Given the description of an element on the screen output the (x, y) to click on. 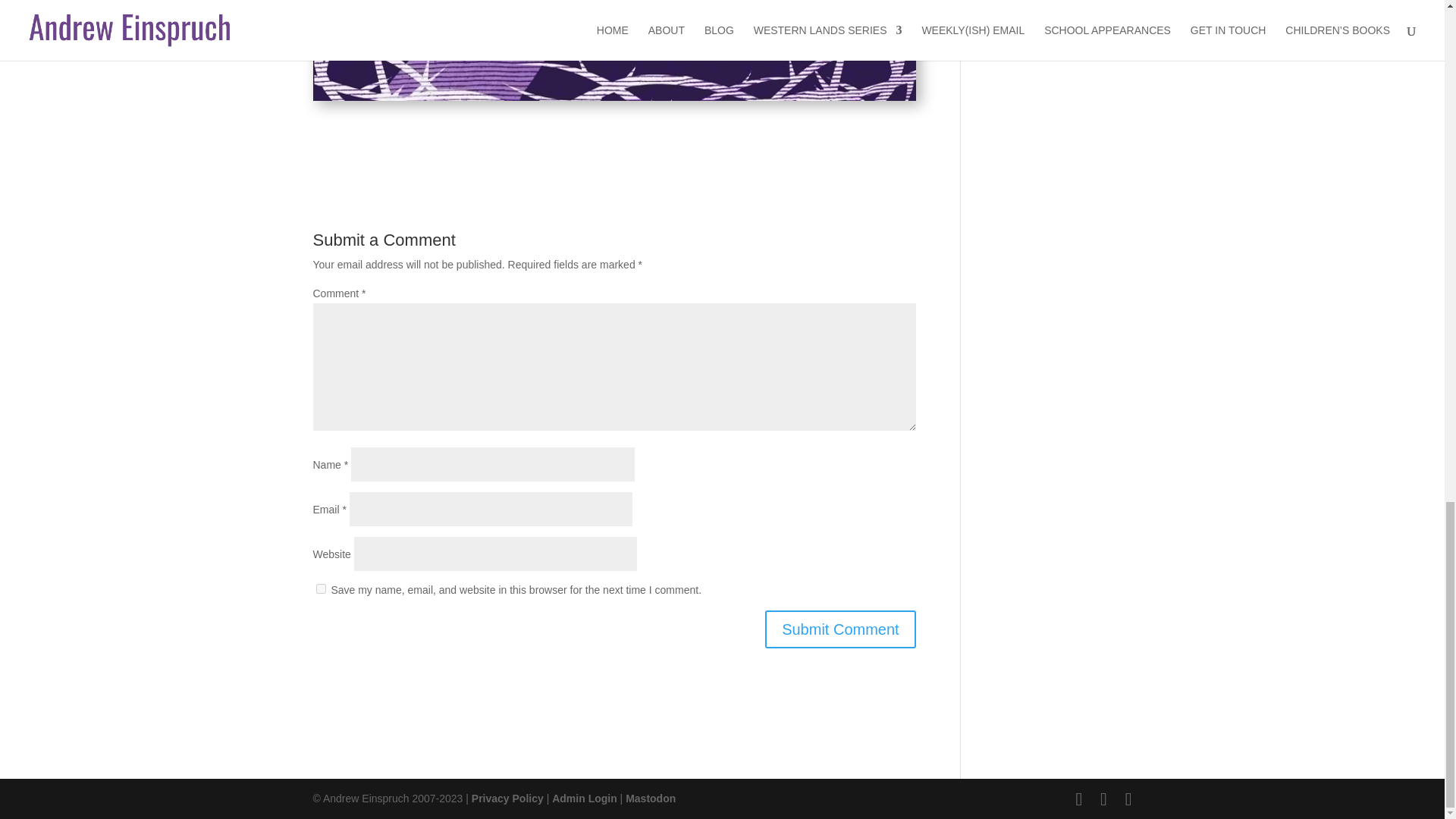
Submit Comment (840, 629)
yes (319, 588)
Submit Comment (840, 629)
